Given the description of an element on the screen output the (x, y) to click on. 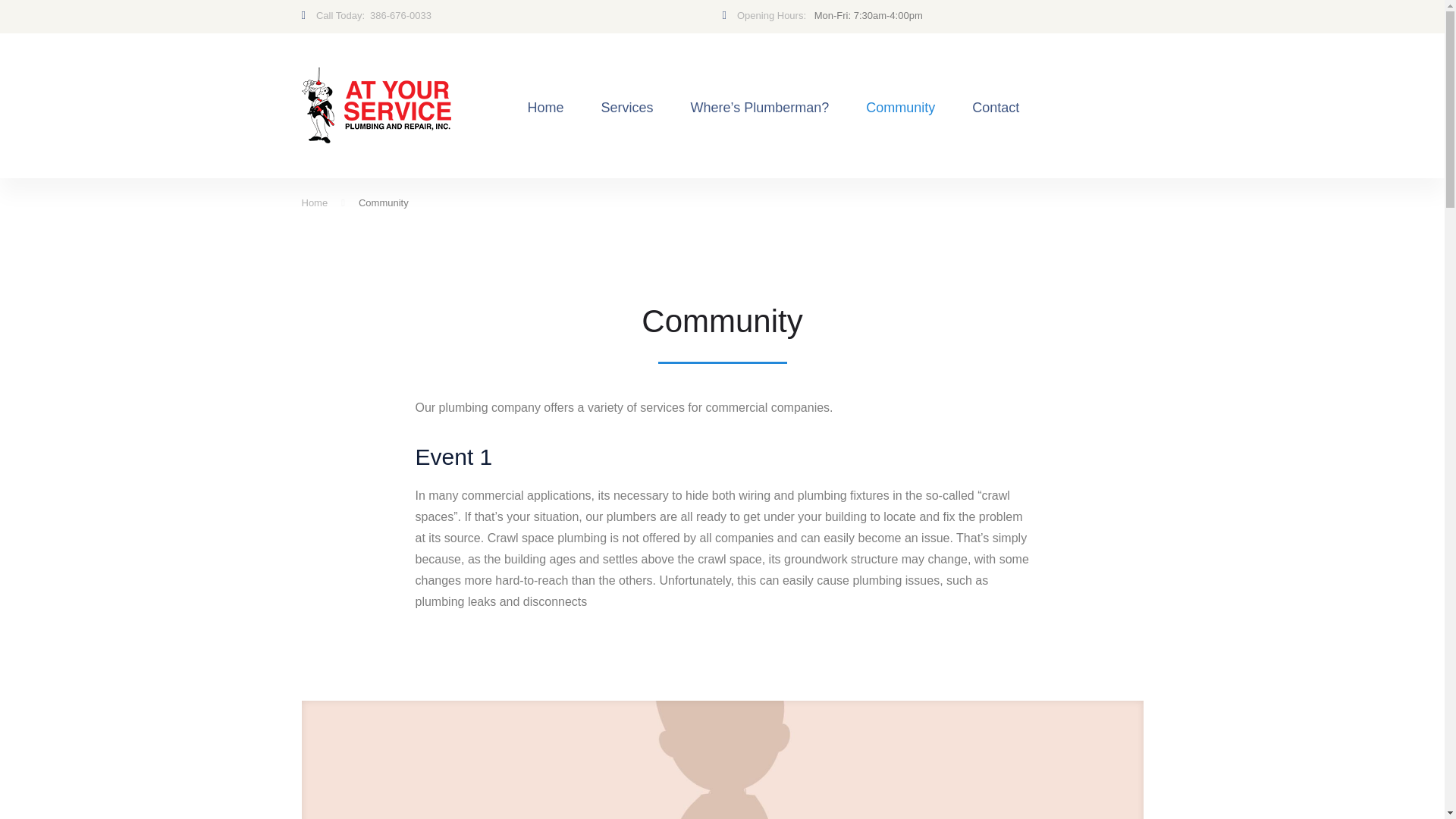
386-676-0033 (399, 15)
Home (315, 202)
Home (545, 107)
Services (627, 107)
Community (900, 107)
Contact (994, 107)
Home (315, 202)
